Given the description of an element on the screen output the (x, y) to click on. 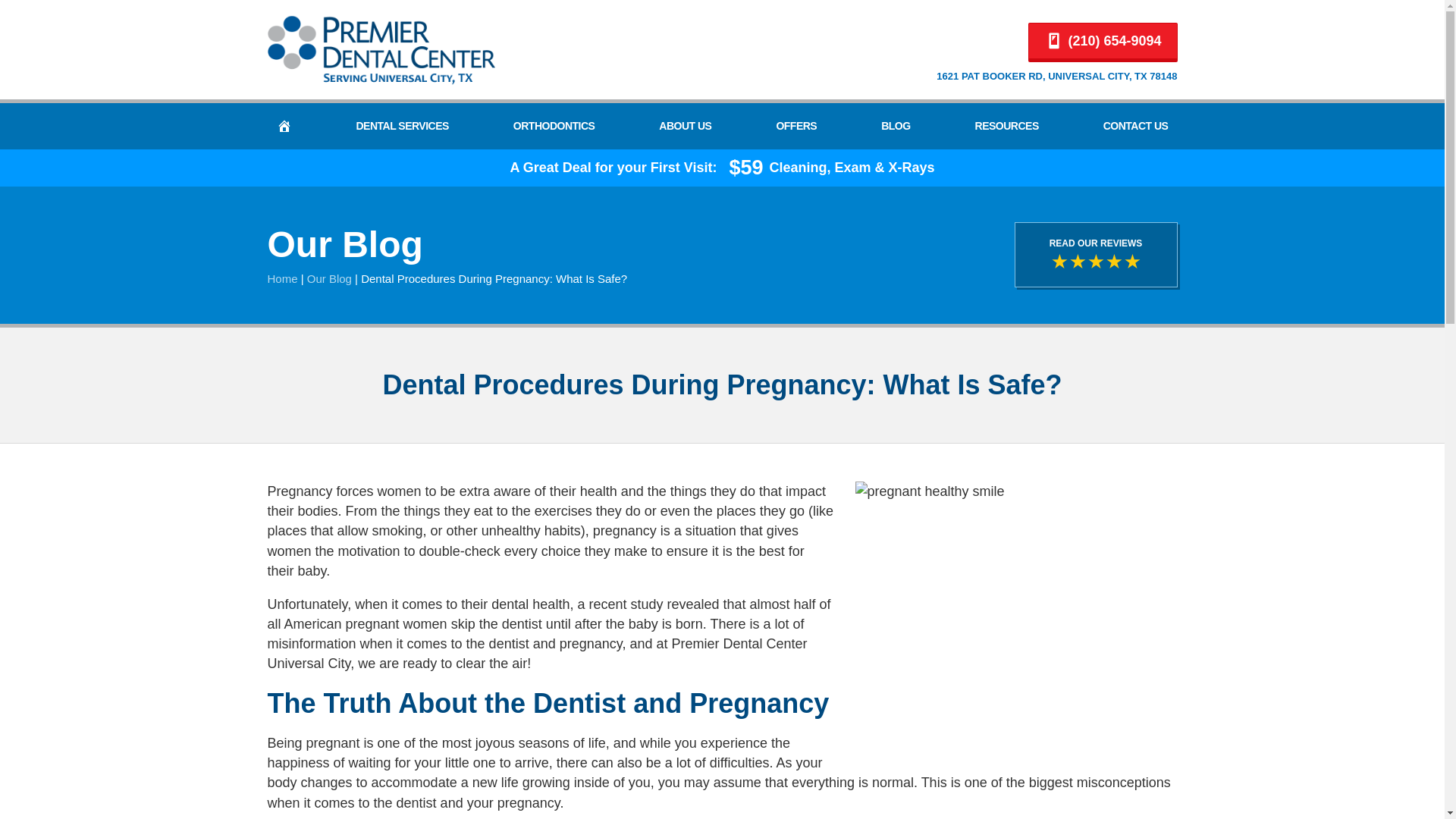
Our Blog (329, 278)
Contact Us (1135, 125)
DENTAL SERVICES (401, 125)
ORTHODONTICS (553, 125)
RESOURCES (1007, 125)
BLOG (895, 125)
1621 PAT BOOKER RD, UNIVERSAL CITY, TX 78148 (1056, 75)
Home (281, 278)
CONTACT US (1135, 125)
OFFERS (796, 125)
